Given the description of an element on the screen output the (x, y) to click on. 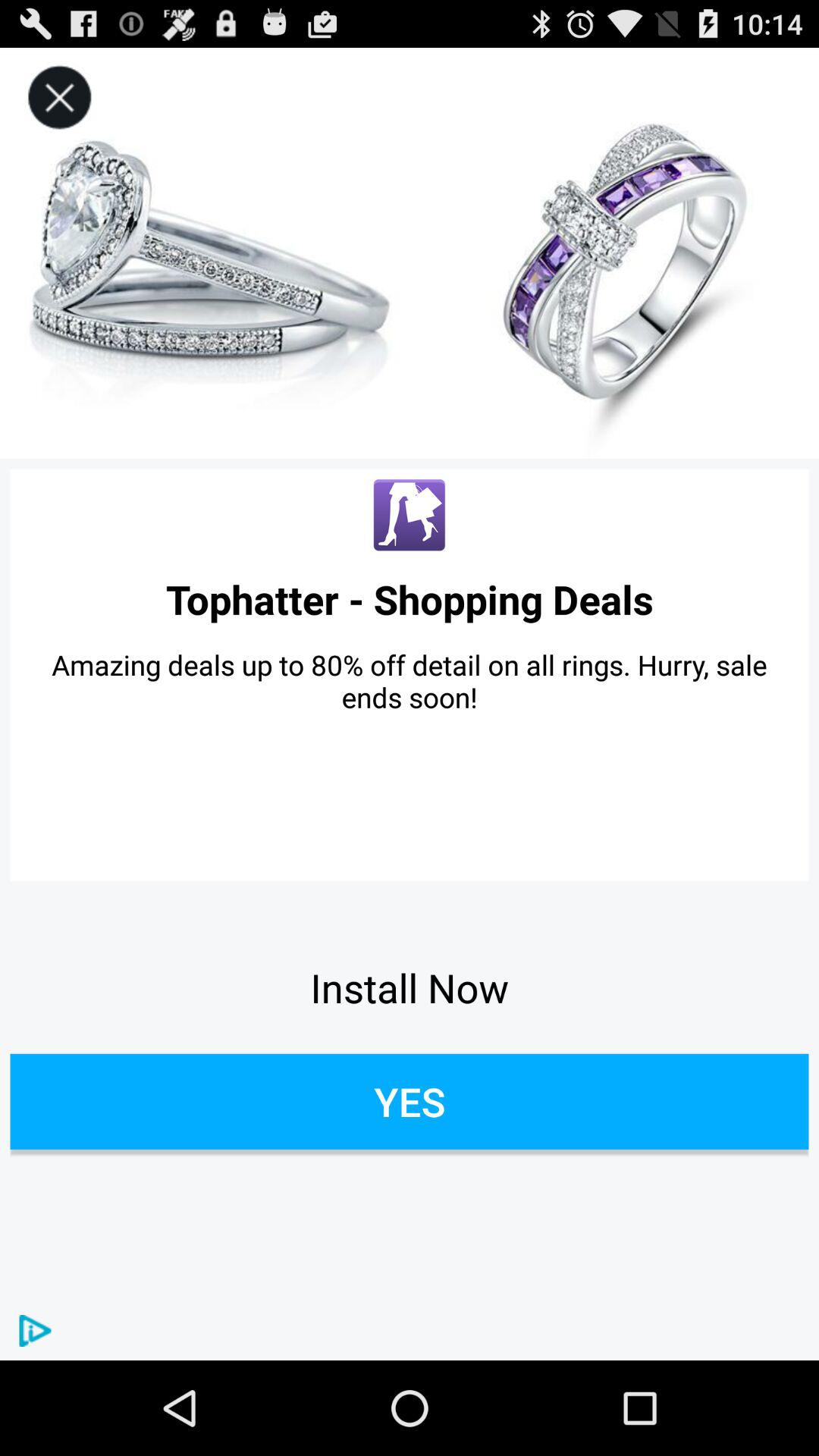
click item above amazing deals up app (409, 598)
